Given the description of an element on the screen output the (x, y) to click on. 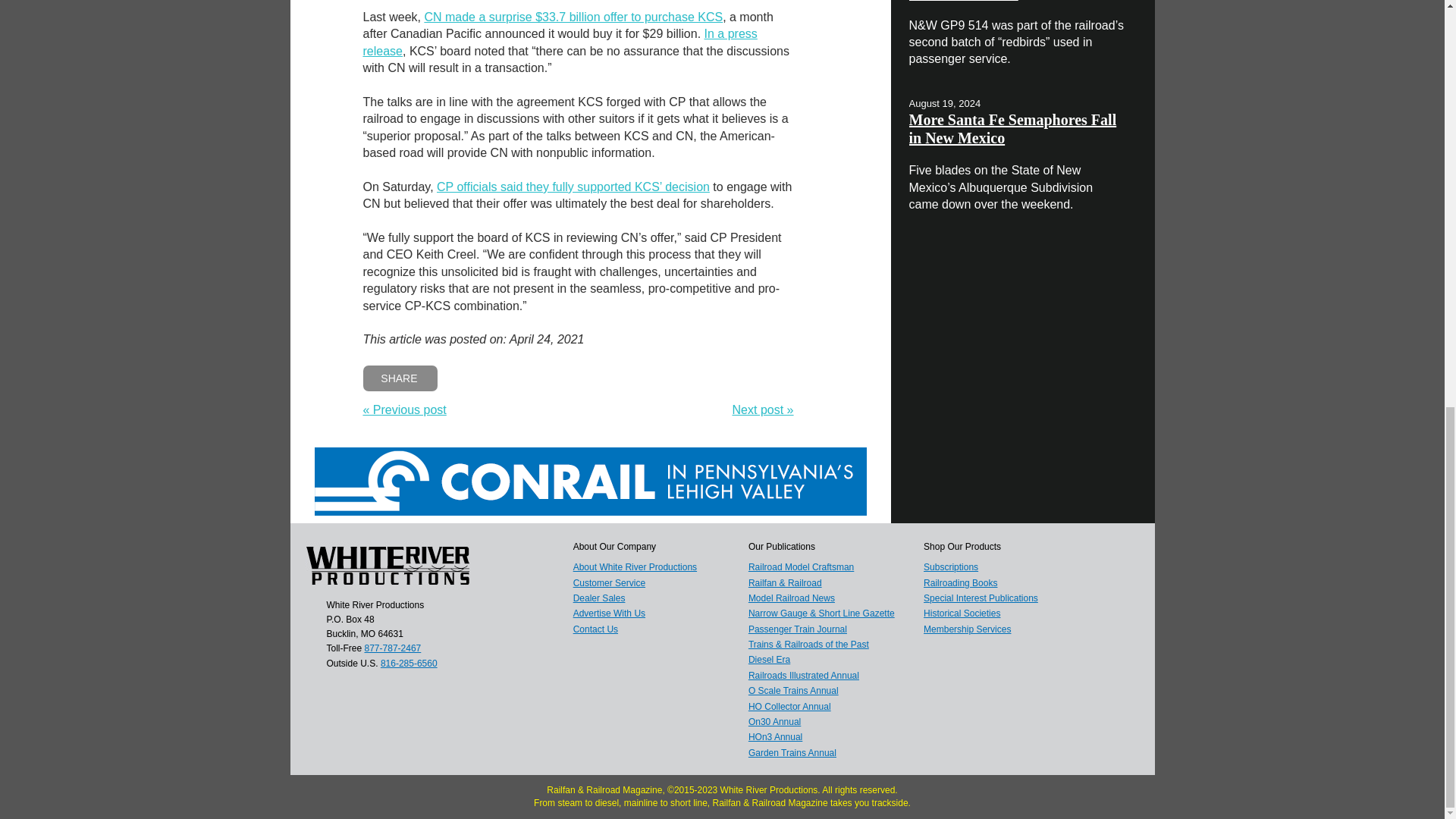
SHARE (400, 378)
Share (400, 378)
About White River Productions (635, 566)
More Santa Fe Semaphores Fall in New Mexico (1012, 128)
816-285-6560 (409, 662)
877-787-2467 (393, 647)
In a press release (559, 41)
Customer Service (609, 583)
